Given the description of an element on the screen output the (x, y) to click on. 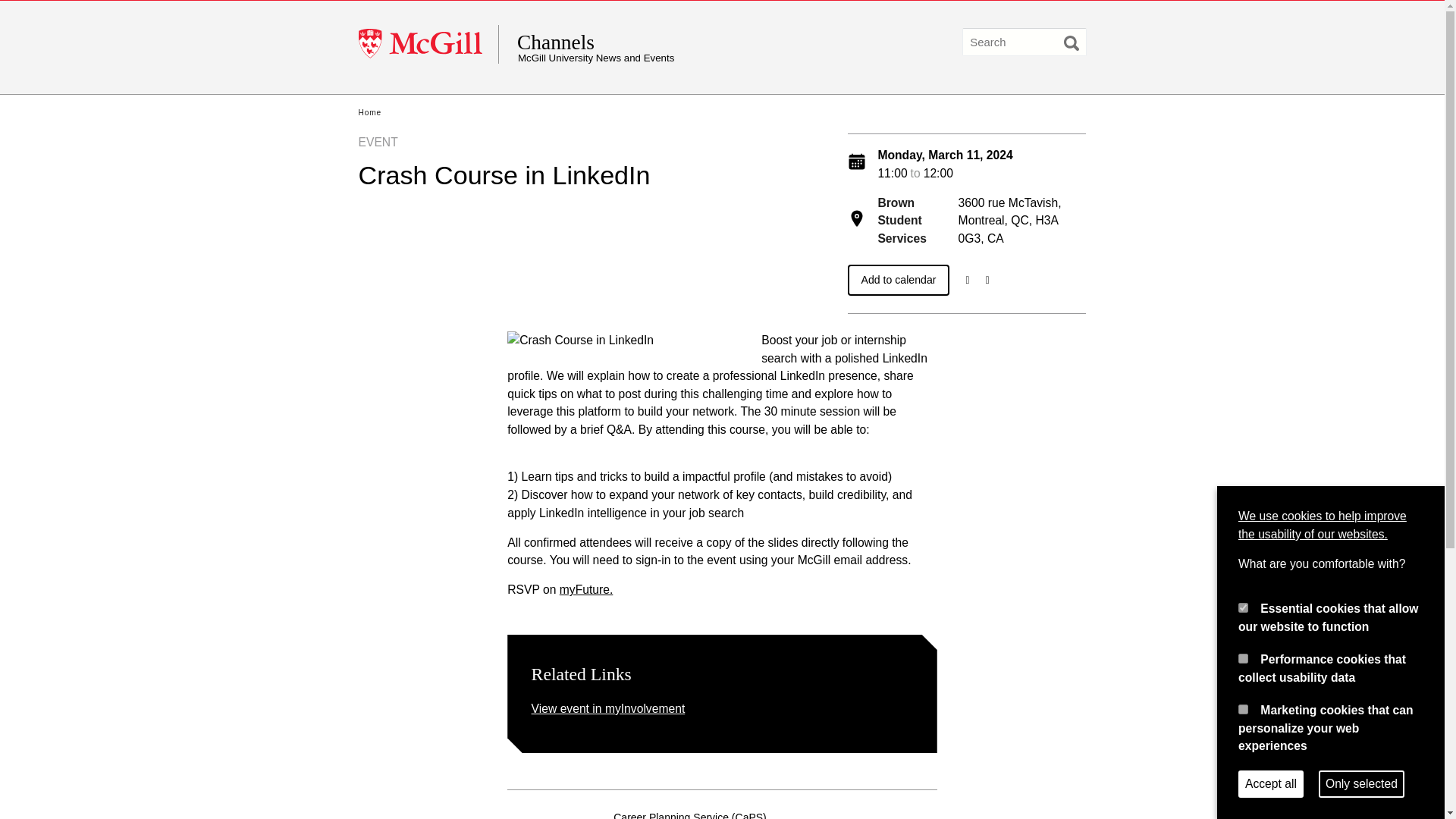
Home (369, 112)
Add to calendar (898, 279)
Only selected (1362, 783)
return to McGill University (427, 44)
Channels (664, 42)
Search (1070, 42)
marketing (1243, 709)
Search (1070, 42)
McGill University (427, 44)
